Given the description of an element on the screen output the (x, y) to click on. 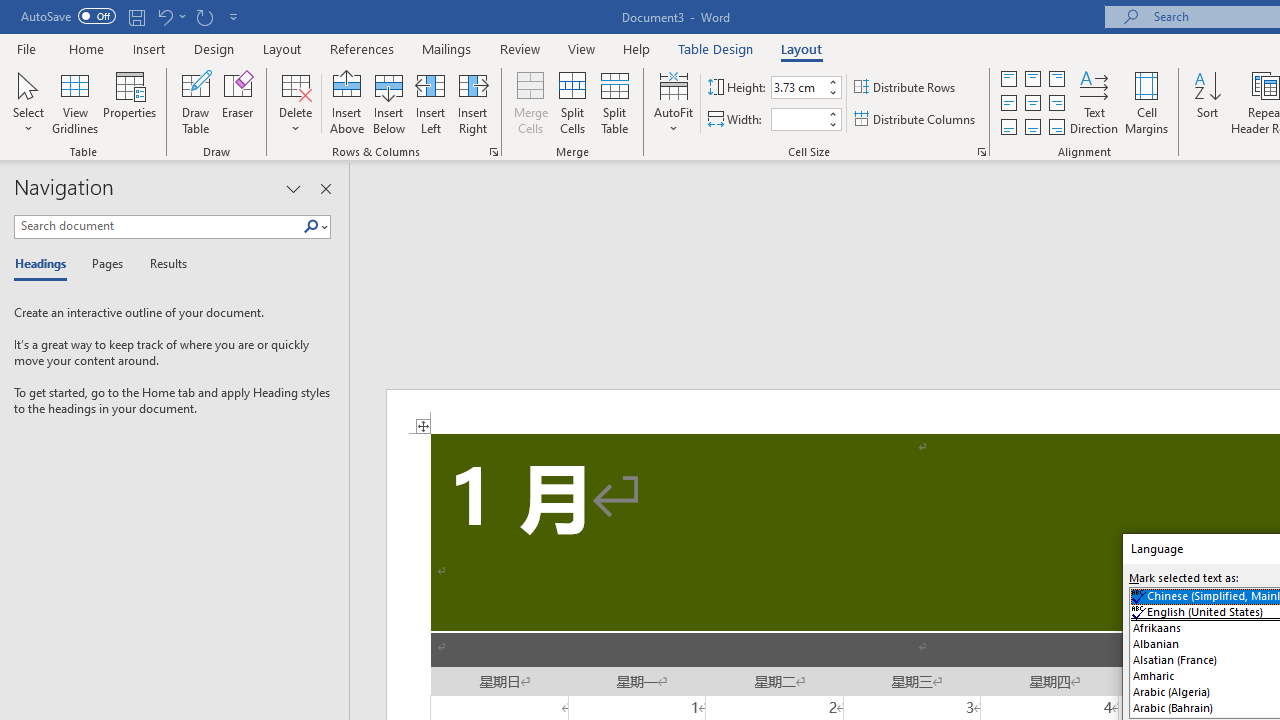
Eraser (237, 102)
Undo Increase Indent (164, 15)
Align Bottom Justified (1009, 126)
AutoFit (673, 102)
Insert Below (388, 102)
Close pane (325, 188)
Properties... (981, 151)
More (832, 113)
Review (520, 48)
Task Pane Options (293, 188)
Insert Cells... (493, 151)
Search document (157, 226)
Design (214, 48)
Select (28, 102)
